Given the description of an element on the screen output the (x, y) to click on. 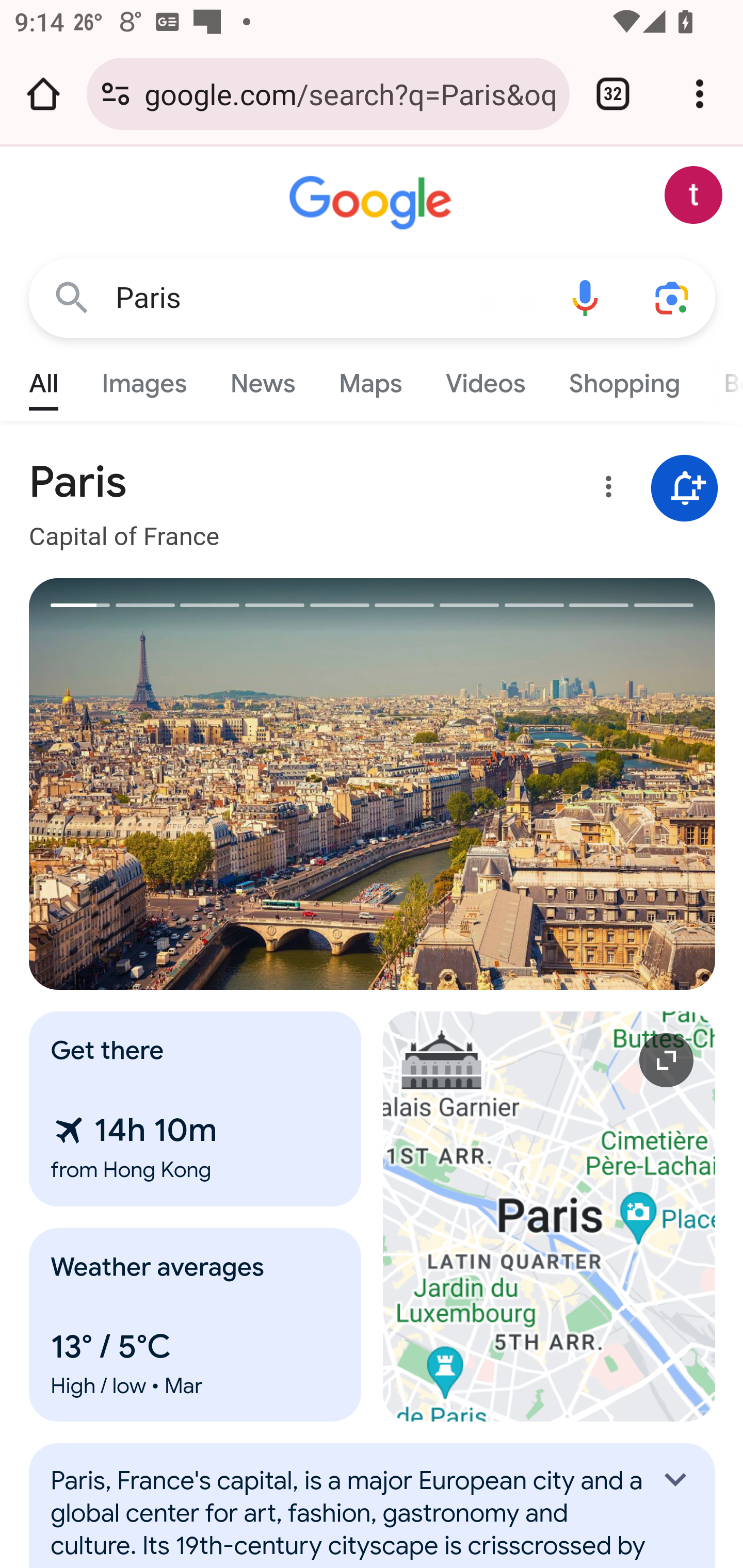
Open the home page (43, 93)
Connection is secure (115, 93)
Switch or close tabs (612, 93)
Customize and control Google Chrome (699, 93)
Google (372, 203)
Google Search (71, 296)
Search using your camera or photos (672, 296)
Paris (328, 297)
Images (144, 378)
News (262, 378)
Maps (369, 378)
Videos (485, 378)
Shopping (623, 378)
Books (721, 378)
Get notifications about Paris (684, 489)
More options (605, 489)
Previous image (200, 783)
Next image (544, 783)
Expand map (549, 1216)
Weather averages 13° / 5°C High / low • Mar (195, 1324)
